Given the description of an element on the screen output the (x, y) to click on. 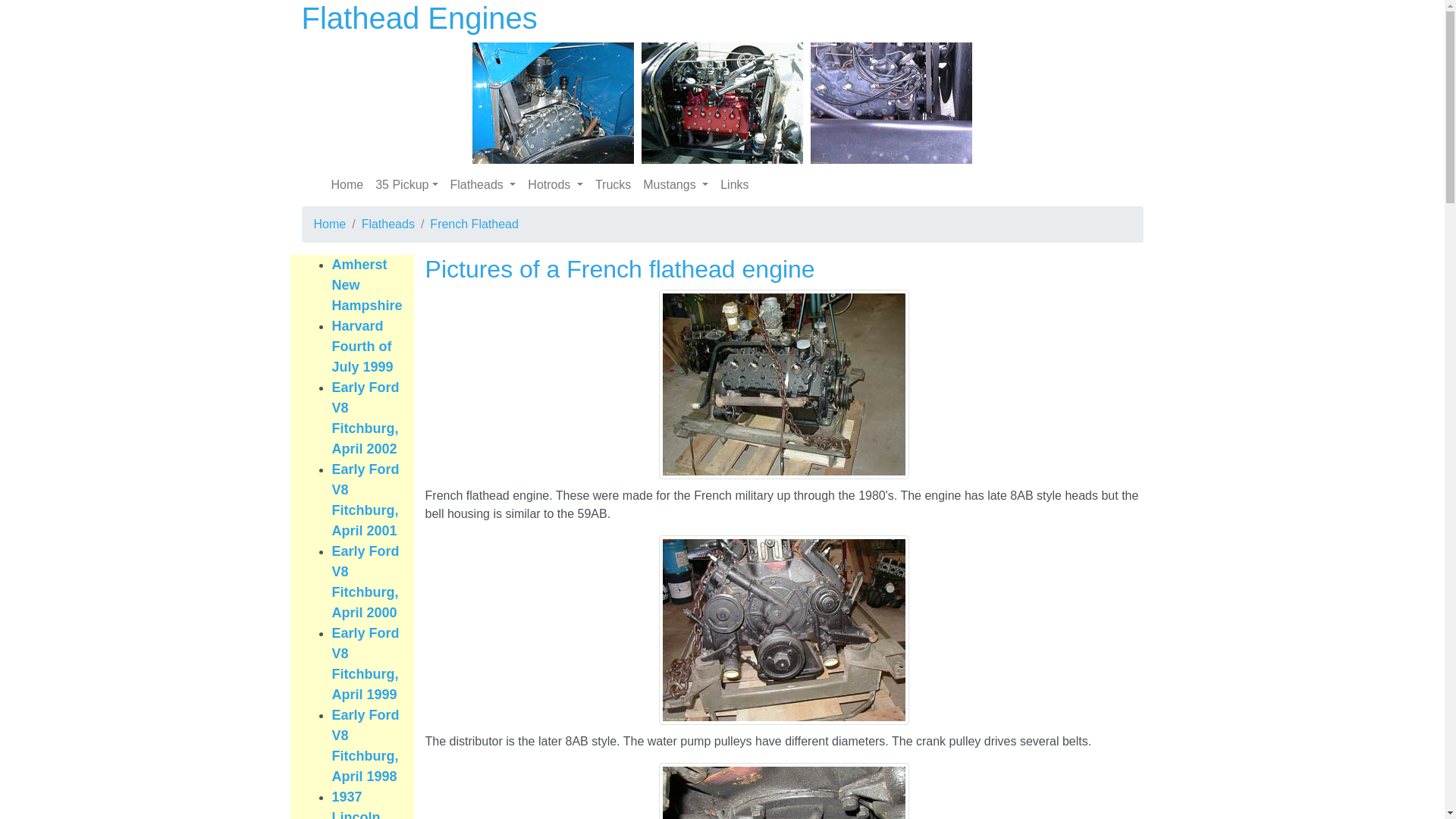
Flatheads Element type: text (387, 224)
35 Pickup Element type: text (406, 184)
Amherst New Hampshire Element type: text (367, 285)
Early Ford V8 Fitchburg, April 2002 Element type: text (365, 417)
Mustangs  Element type: text (675, 184)
Home Element type: text (329, 224)
Early Ford V8 Fitchburg, April 2001 Element type: text (365, 499)
Hotrods  Element type: text (555, 184)
Harvard Fourth of July 1999 Element type: text (362, 346)
Flatheads  Element type: text (483, 184)
French Flathead Element type: text (473, 224)
Early Ford V8 Fitchburg, April 1998 Element type: text (365, 745)
Early Ford V8 Fitchburg, April 2000 Element type: text (365, 581)
Links Element type: text (734, 184)
Early Ford V8 Fitchburg, April 1999 Element type: text (365, 663)
Home Element type: text (346, 184)
Trucks Element type: text (613, 184)
